Given the description of an element on the screen output the (x, y) to click on. 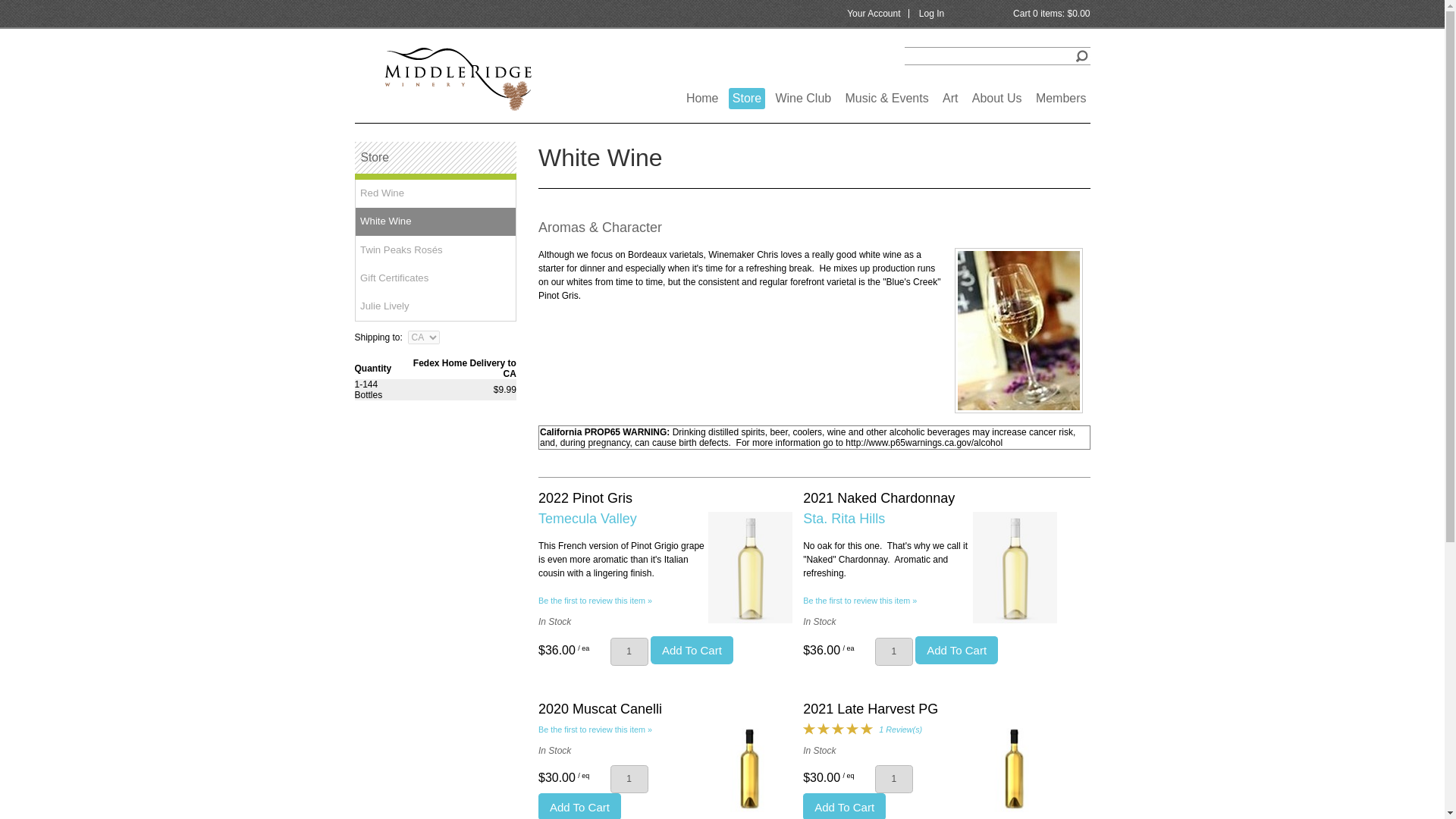
1 (628, 651)
Home (702, 97)
Members (1061, 97)
Art (949, 97)
1 (893, 778)
1 (893, 651)
Store (747, 97)
Wine Club (802, 97)
Your Account (873, 13)
About Us (997, 97)
